Given the description of an element on the screen output the (x, y) to click on. 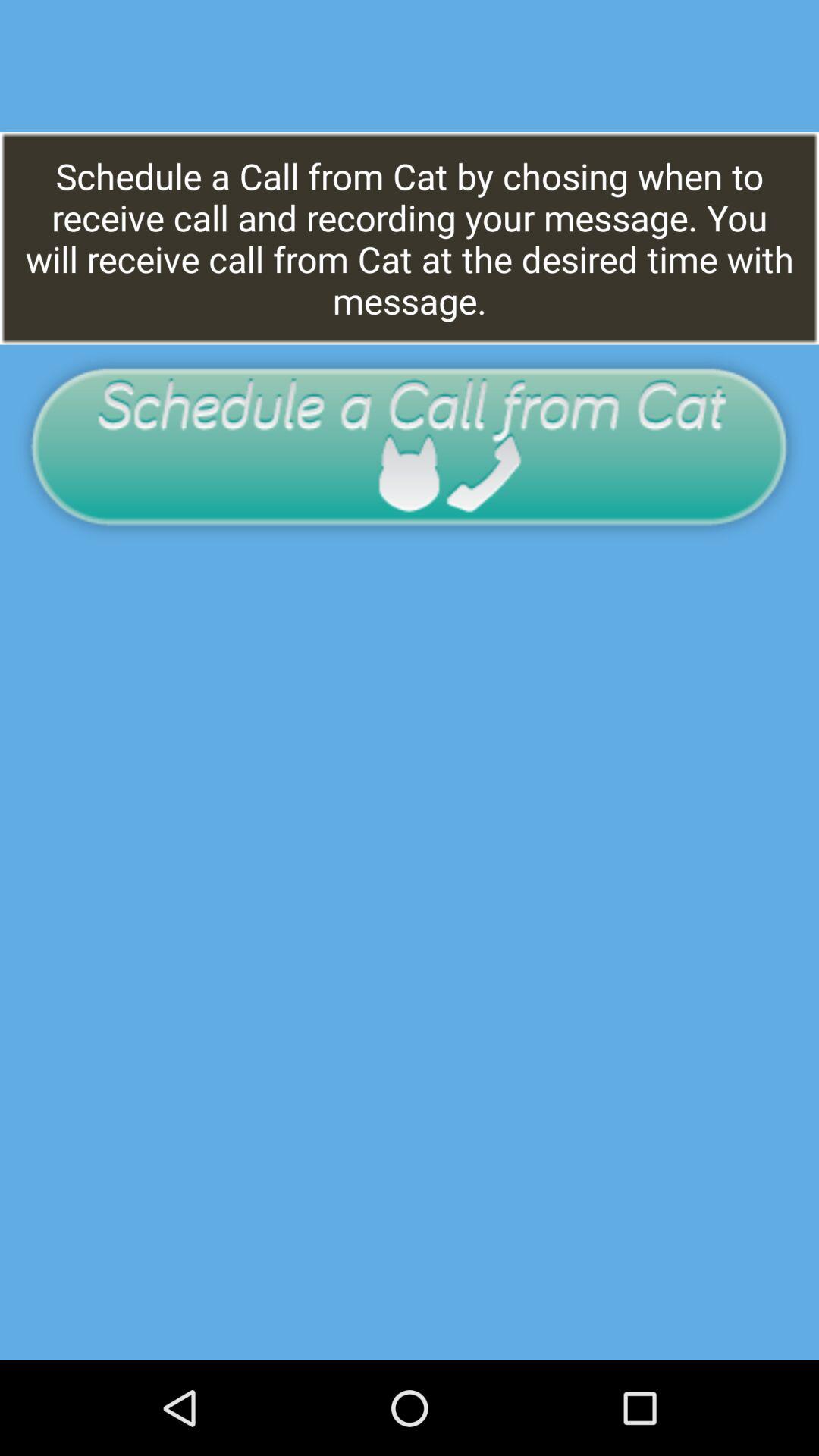
schedule a call from cat (409, 445)
